Given the description of an element on the screen output the (x, y) to click on. 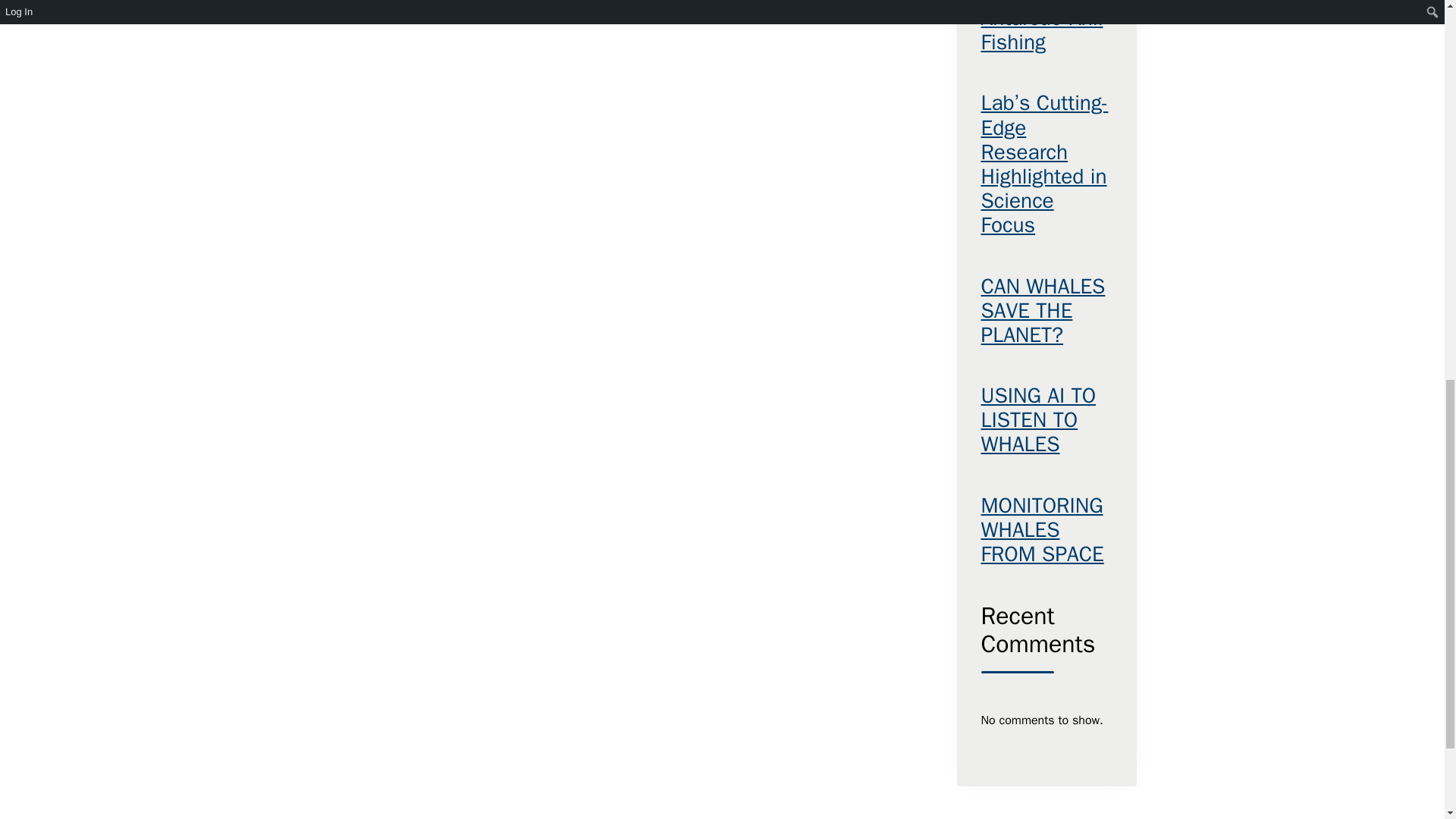
MONITORING WHALES FROM SPACE (1046, 530)
CAN WHALES SAVE THE PLANET? (1046, 311)
USING AI TO LISTEN TO WHALES (1046, 420)
